Given the description of an element on the screen output the (x, y) to click on. 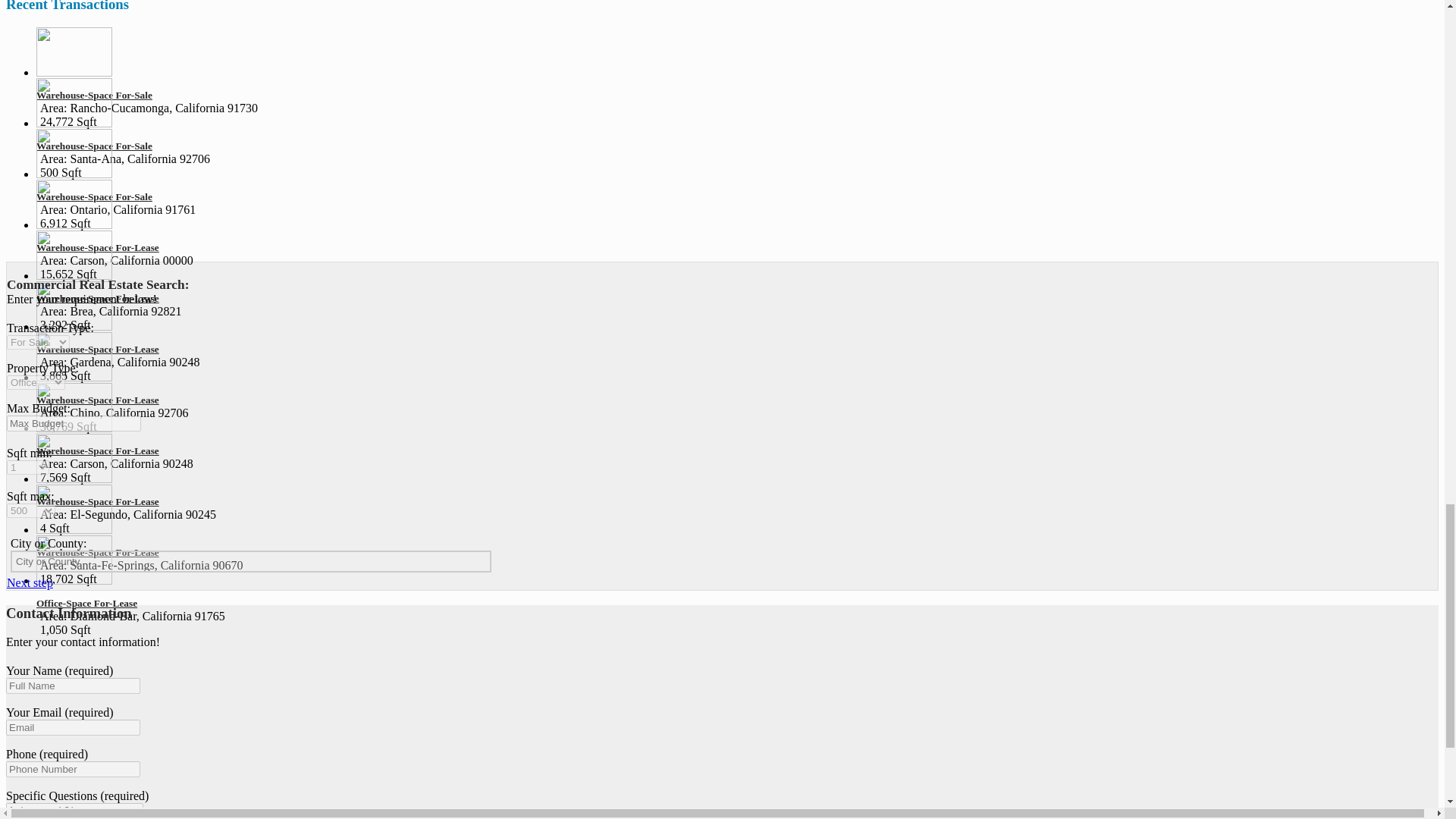
Warehouse-Space For-Sale (94, 196)
Warehouse-Space For-Sale (94, 94)
Warehouse-Space For-Sale (94, 145)
Warehouse-Space For-Lease (97, 247)
